Given the description of an element on the screen output the (x, y) to click on. 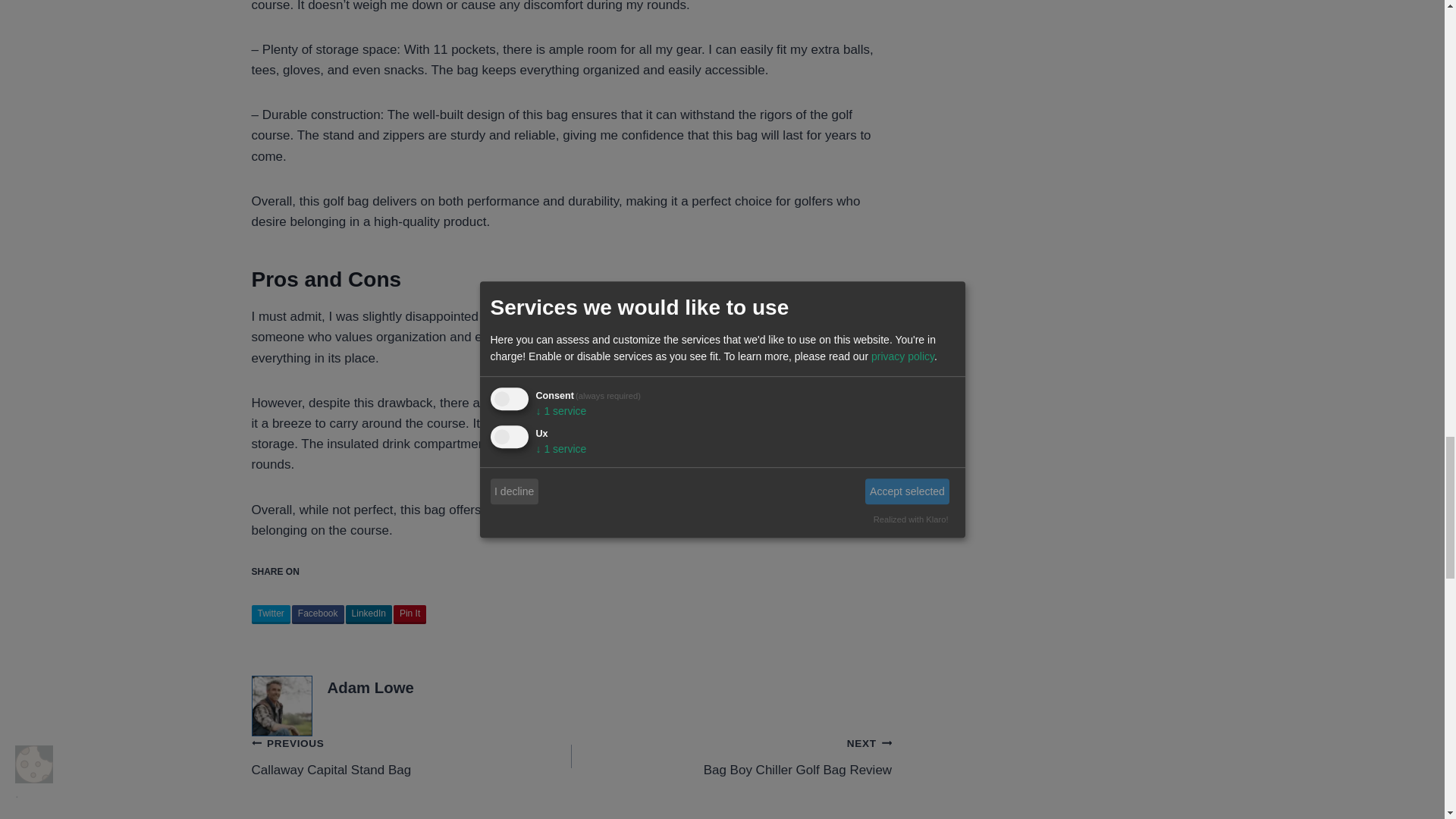
Twitter (270, 614)
Facebook (317, 614)
Pin It (731, 756)
LinkedIn (409, 614)
Adam Lowe (368, 614)
Posts by Adam Lowe (411, 756)
